Given the description of an element on the screen output the (x, y) to click on. 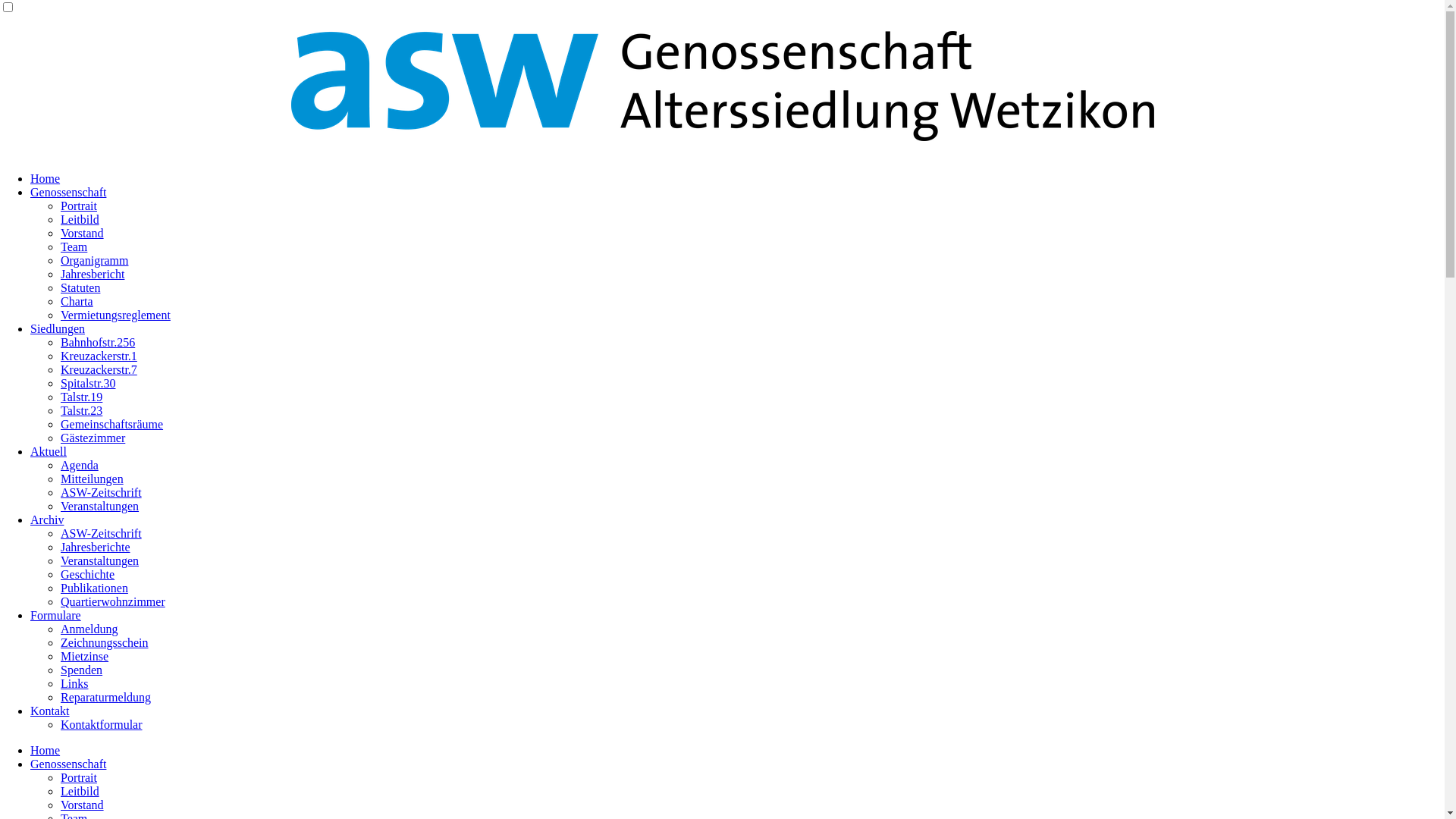
Organigramm Element type: text (94, 260)
Mitteilungen Element type: text (91, 478)
Links Element type: text (73, 683)
Veranstaltungen Element type: text (99, 560)
Jahresberichte Element type: text (95, 546)
Kontaktformular Element type: text (101, 724)
Talstr.19 Element type: text (81, 396)
Vorstand Element type: text (81, 804)
Team Element type: text (73, 246)
Genossenschaft Element type: text (68, 191)
Talstr.23 Element type: text (81, 410)
Quartierwohnzimmer Element type: text (112, 601)
ASW-Zeitschrift Element type: text (100, 533)
Kontakt Element type: text (49, 710)
Jahresbericht Element type: text (92, 273)
Genossenschaft Element type: text (68, 763)
Siedlungen Element type: text (57, 328)
Charta Element type: text (76, 300)
Aktuell Element type: text (48, 451)
Vermietungsreglement Element type: text (115, 314)
Archiv Element type: text (46, 519)
Publikationen Element type: text (94, 587)
Spitalstr.30 Element type: text (87, 382)
Zeichnungsschein Element type: text (104, 642)
Spenden Element type: text (81, 669)
Home Element type: text (44, 749)
Geschichte Element type: text (87, 573)
Kreuzackerstr.1 Element type: text (98, 355)
Veranstaltungen Element type: text (99, 505)
Agenda Element type: text (79, 464)
Mietzinse Element type: text (84, 655)
Formulare Element type: text (55, 614)
Home Element type: text (44, 178)
Statuten Element type: text (80, 287)
Leitbild Element type: text (79, 219)
Kreuzackerstr.7 Element type: text (98, 369)
Bahnhofstr.256 Element type: text (97, 341)
Portrait Element type: text (78, 777)
Anmeldung Element type: text (89, 628)
ASW-Zeitschrift Element type: text (100, 492)
Reparaturmeldung Element type: text (105, 696)
Portrait Element type: text (78, 205)
Vorstand Element type: text (81, 232)
Leitbild Element type: text (79, 790)
